Given the description of an element on the screen output the (x, y) to click on. 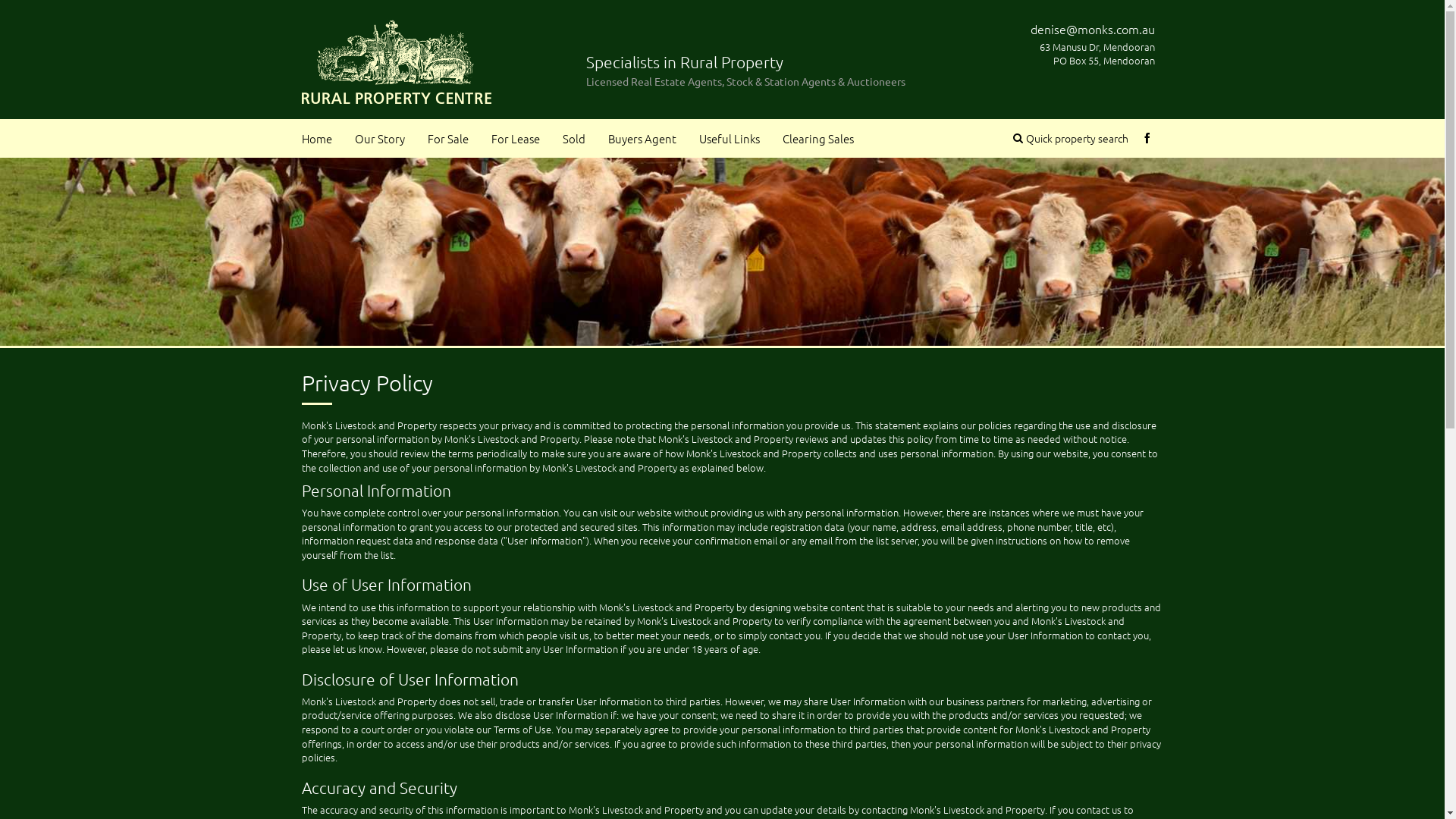
Rural Property Centre Element type: hover (396, 57)
Sold Element type: text (573, 137)
Buyers Agent Element type: text (641, 137)
Home Element type: text (315, 137)
Useful Links Element type: text (728, 137)
Clearing Sales Element type: text (817, 137)
Our Story Element type: text (378, 137)
For Sale Element type: text (447, 137)
Quick property search Element type: text (1070, 137)
For Lease Element type: text (514, 137)
